Given the description of an element on the screen output the (x, y) to click on. 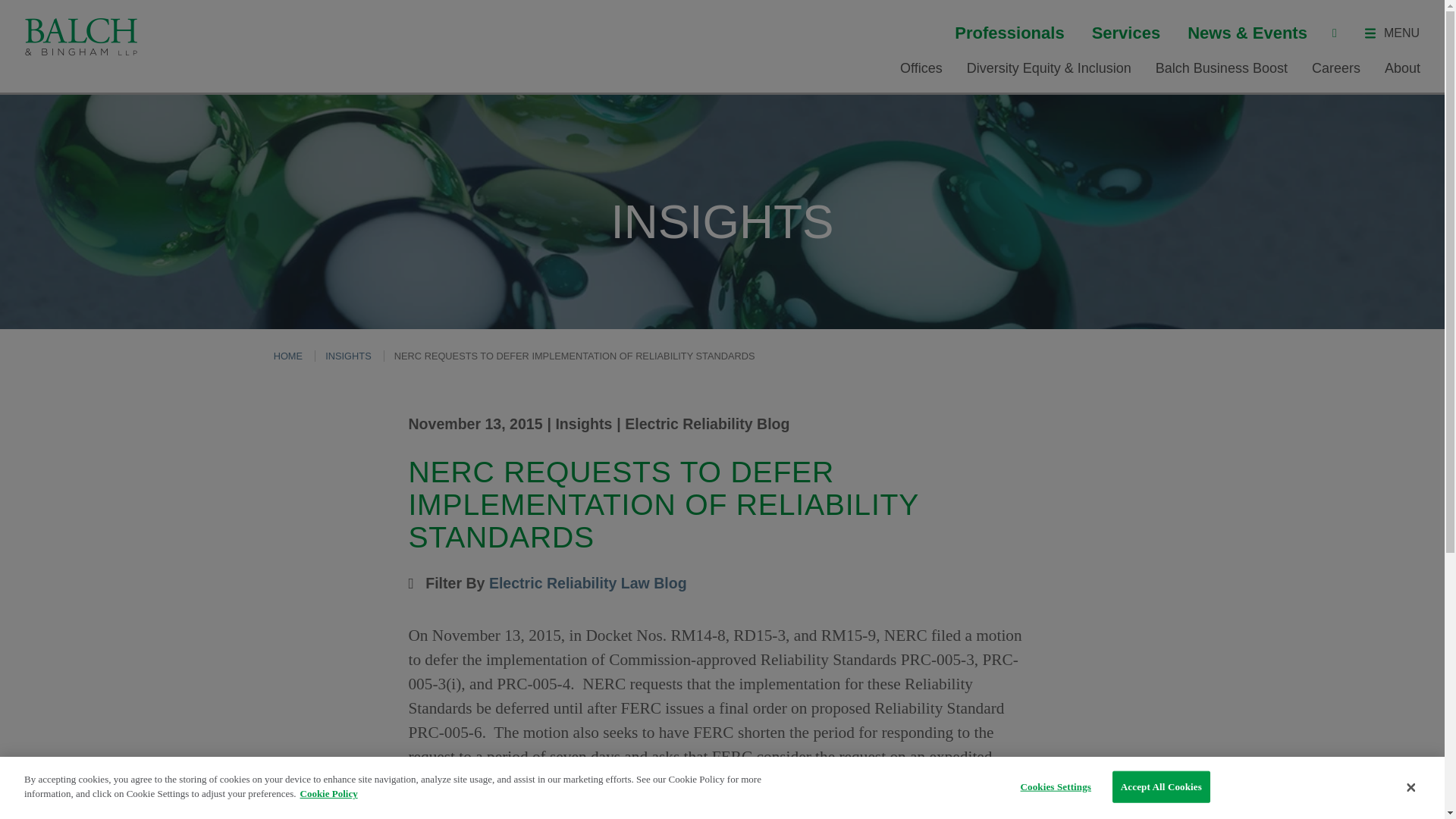
MENU (1391, 33)
Services (1126, 32)
here (581, 817)
Professionals (1009, 32)
About (1402, 68)
INSIGHTS (347, 355)
Careers (1335, 68)
Electric Reliability Law Blog (588, 582)
Offices (920, 68)
HOME (287, 355)
